Given the description of an element on the screen output the (x, y) to click on. 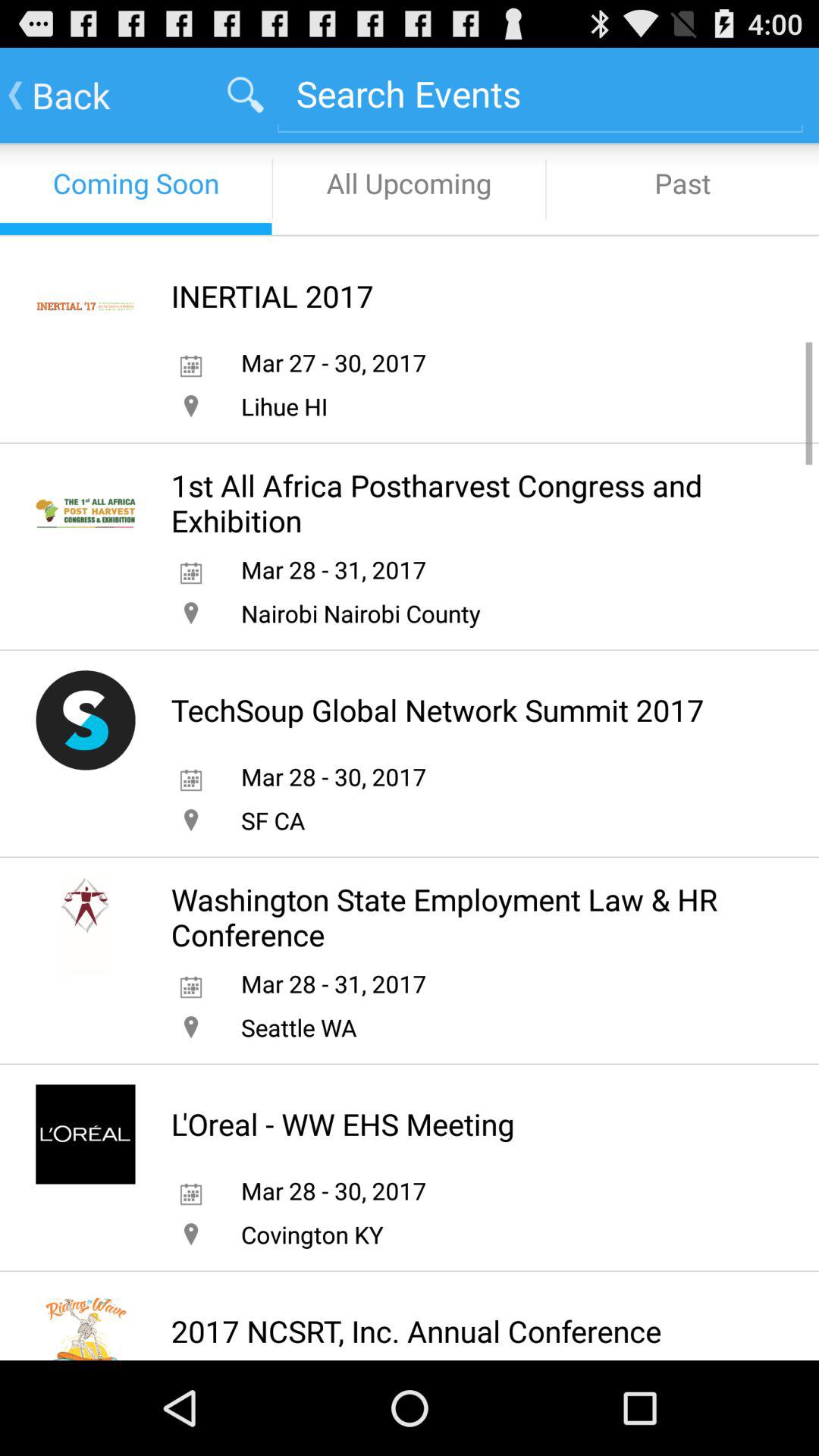
find more events (540, 93)
